Given the description of an element on the screen output the (x, y) to click on. 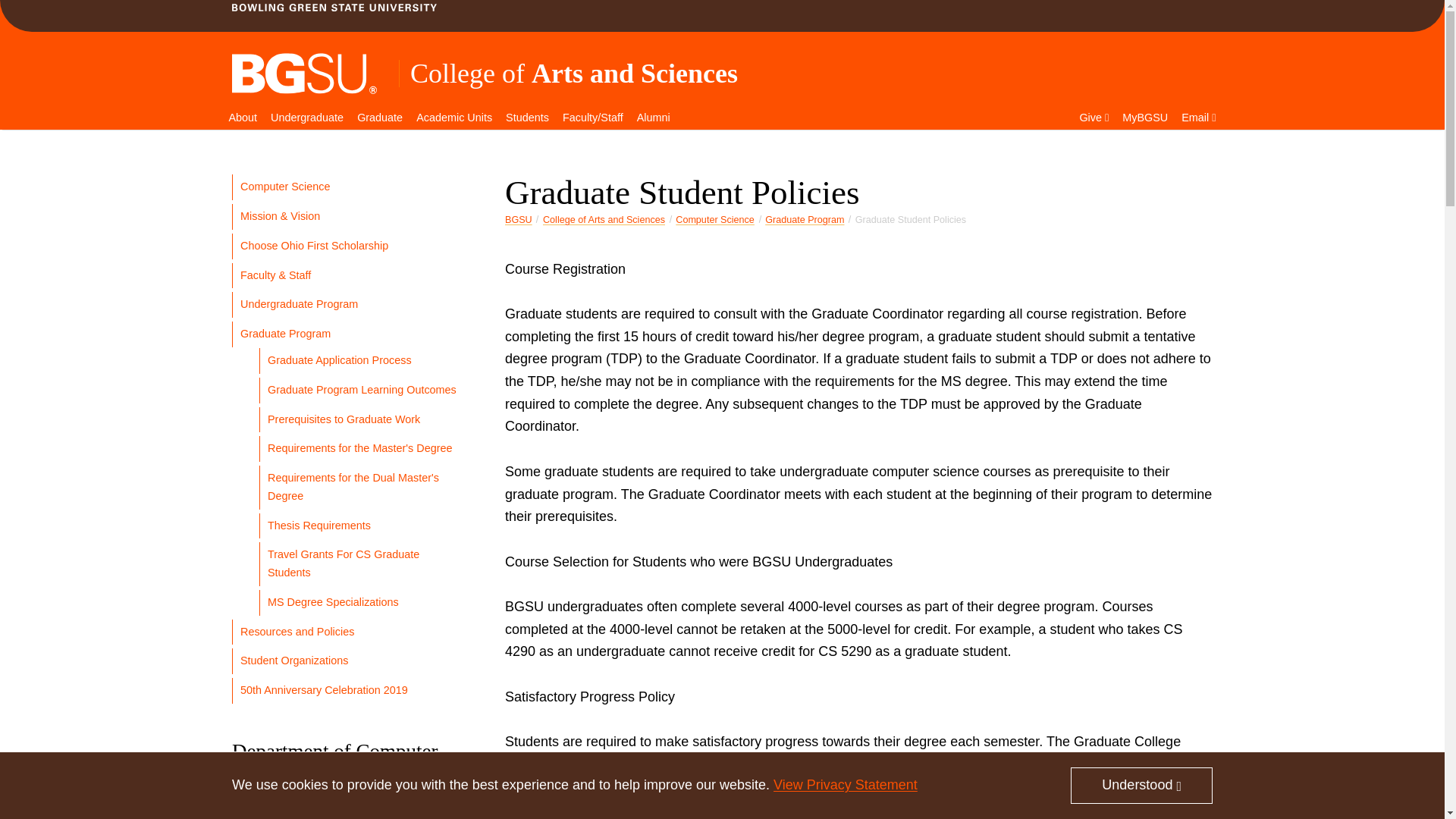
About (242, 117)
View Privacy Statement (845, 784)
Understood  (1141, 785)
College of Arts and Sciences (574, 73)
